Given the description of an element on the screen output the (x, y) to click on. 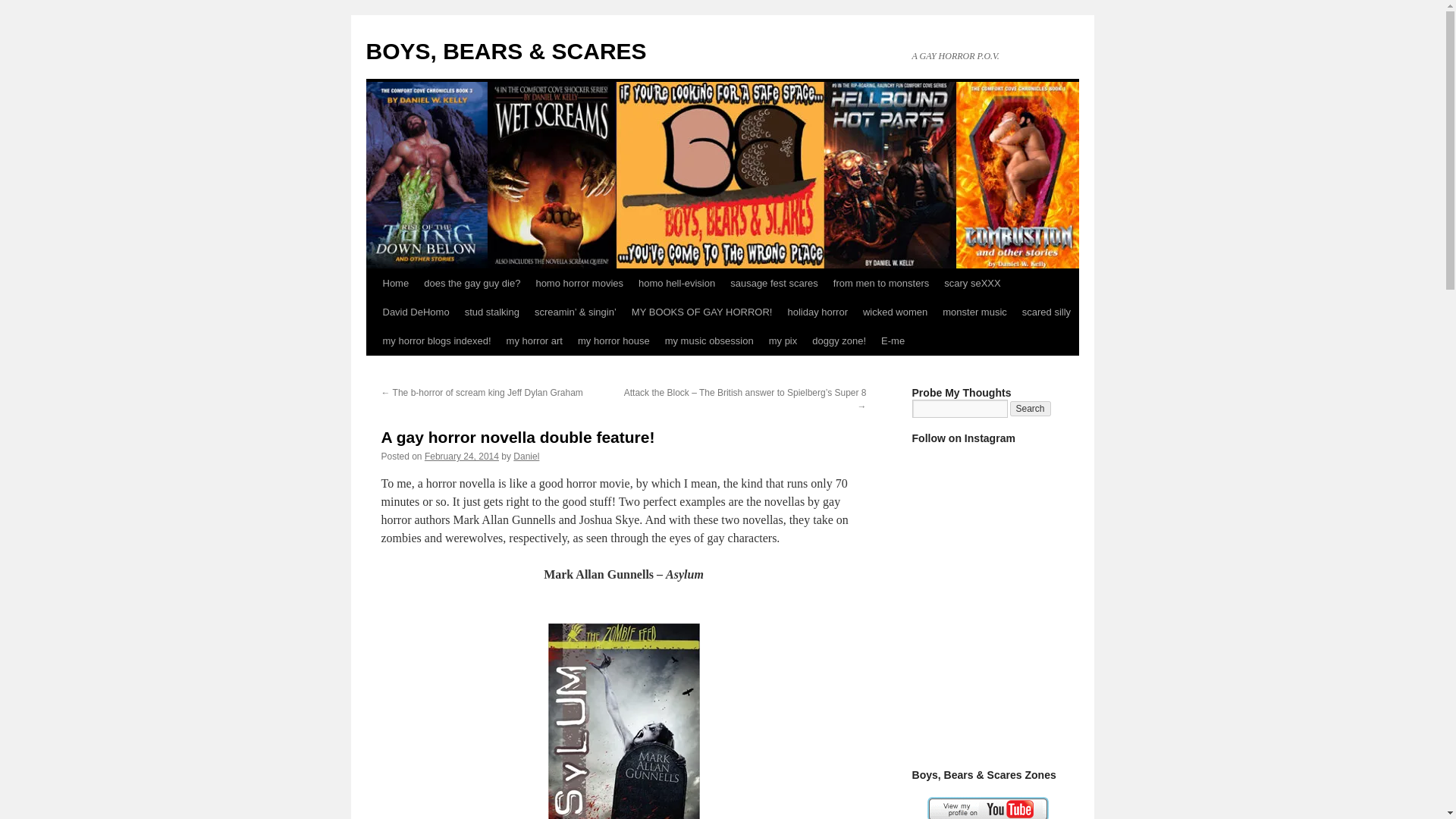
my music obsession (709, 340)
February 24, 2014 (462, 456)
monster music (974, 312)
Home (395, 283)
E-me (892, 340)
from men to monsters (880, 283)
10:13 am (462, 456)
stud stalking (492, 312)
homo horror movies (578, 283)
doggy zone! (839, 340)
my pix (783, 340)
my horror blogs indexed! (435, 340)
wicked women (895, 312)
holiday horror (817, 312)
Daniel (525, 456)
